Given the description of an element on the screen output the (x, y) to click on. 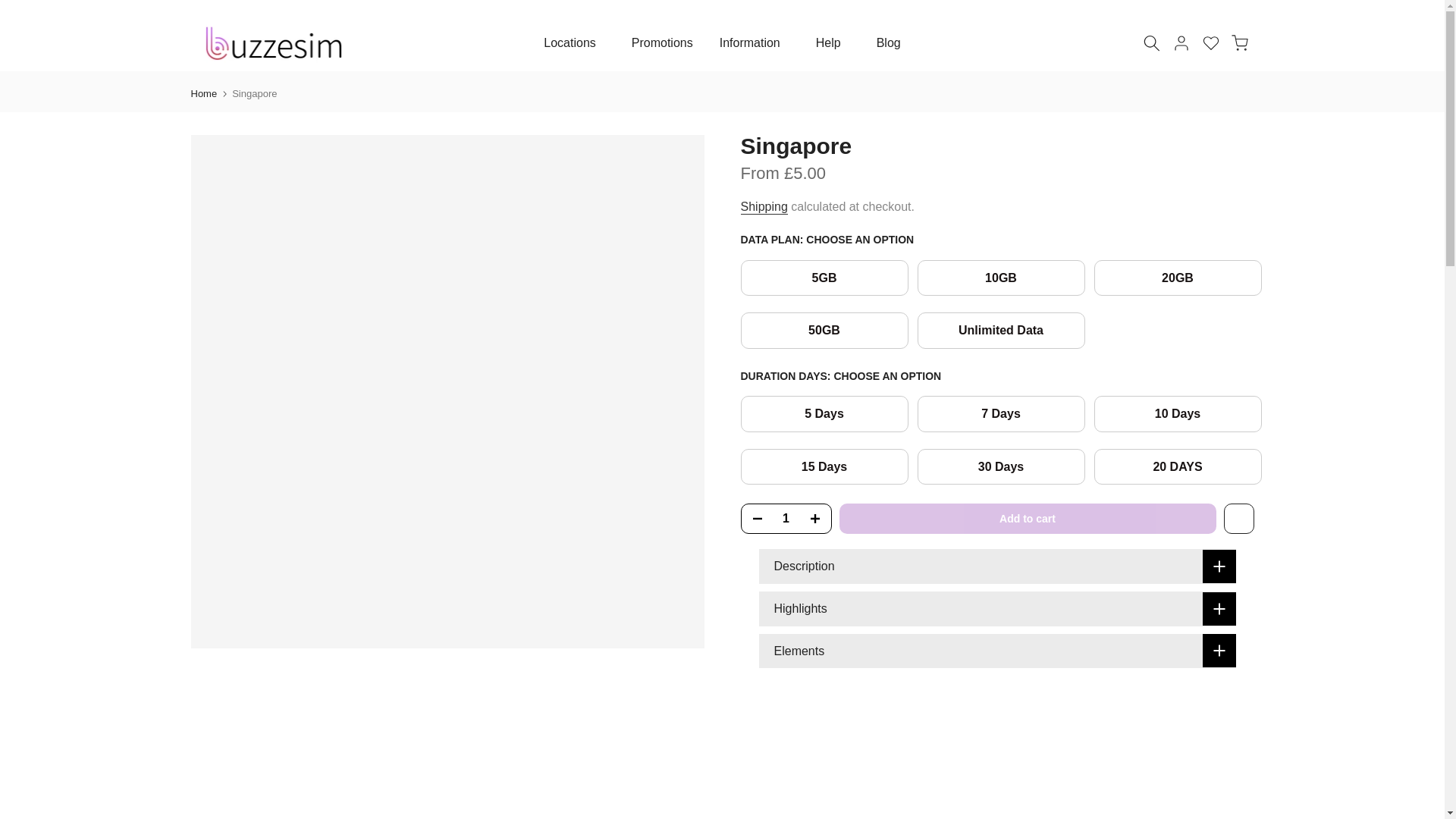
1 (786, 518)
Shipping (763, 206)
Home (203, 93)
Information (754, 43)
Elements (996, 651)
Description (996, 565)
Blog (888, 43)
Skip to content (10, 7)
Help (832, 43)
Locations (574, 43)
